Given the description of an element on the screen output the (x, y) to click on. 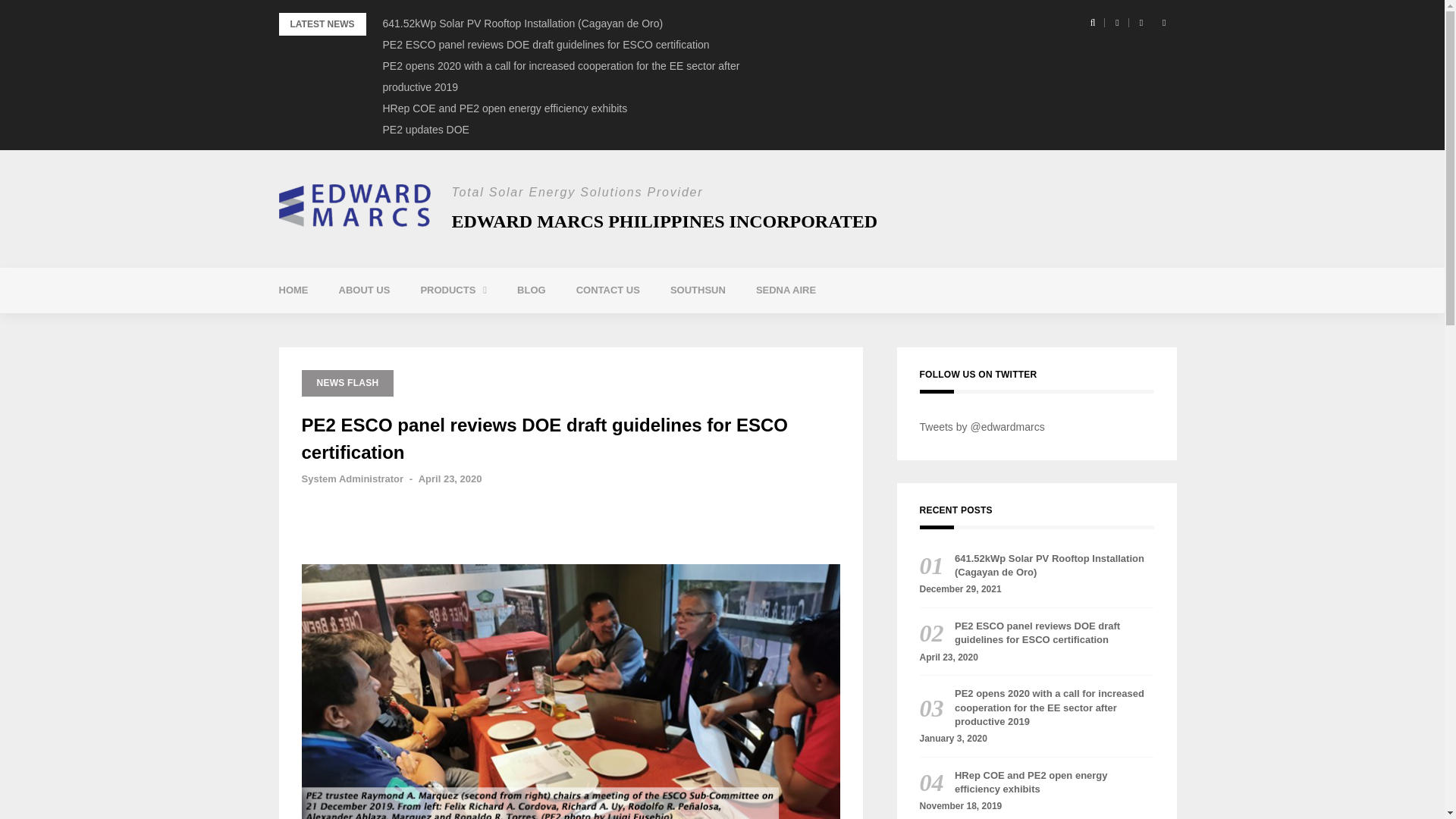
HOME (293, 289)
Home (293, 289)
PE2 updates DOE (424, 129)
Contact Us (607, 289)
CONTACT US (607, 289)
SOUTHSUN (698, 289)
HRep COE and PE2 open energy efficiency exhibits (504, 108)
Blog (531, 289)
EDWARD MARCS PHILIPPINES INCORPORATED (664, 220)
Solar Photovoltaic Panels (507, 327)
ABOUT US (363, 289)
Solar Photovoltaic Panels (507, 327)
